Given the description of an element on the screen output the (x, y) to click on. 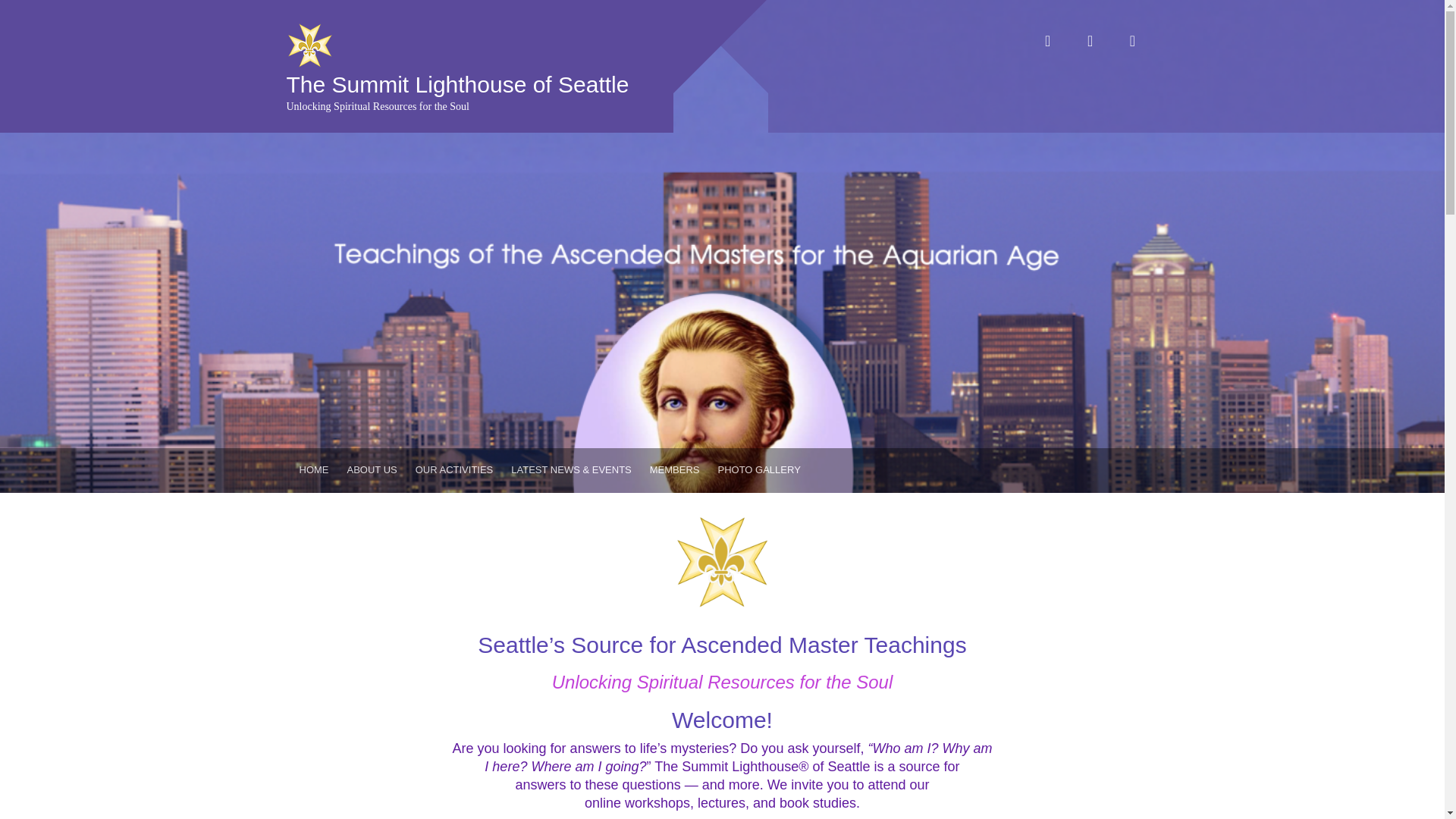
OUR ACTIVITIES (454, 470)
PHOTO GALLERY (758, 470)
MEMBERS (674, 470)
The Summit Lighthouse of Seattle (457, 84)
ABOUT US (371, 470)
HOME (313, 470)
